Given the description of an element on the screen output the (x, y) to click on. 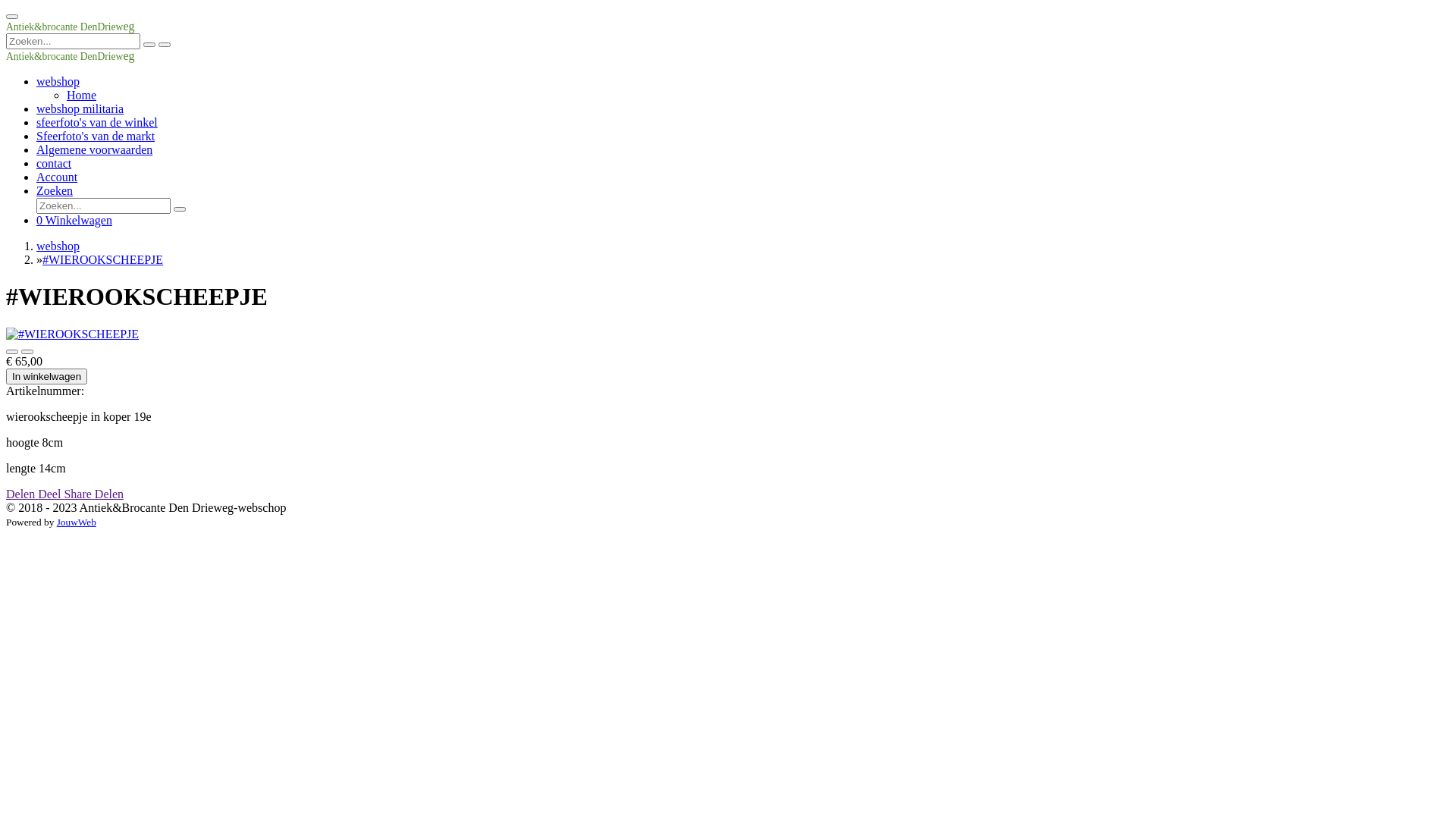
Zoeken Element type: text (54, 190)
sfeerfoto's van de winkel Element type: text (96, 122)
0 Winkelwagen Element type: text (74, 219)
Share Element type: text (78, 493)
Account Element type: text (56, 176)
Algemene voorwaarden Element type: text (94, 149)
#WIEROOKSCHEEPJE Element type: text (102, 259)
JouwWeb Element type: text (76, 521)
Antiek&brocante DenDrieweg Element type: text (70, 25)
Deel Element type: text (50, 493)
Delen Element type: text (108, 493)
webshop Element type: text (57, 245)
In winkelwagen Element type: text (46, 376)
Antiek&brocante DenDrieweg Element type: text (70, 55)
Sfeerfoto's van de markt Element type: text (95, 135)
Home Element type: text (81, 94)
webshop Element type: text (57, 81)
Delen Element type: text (21, 493)
webshop militaria Element type: text (79, 108)
contact Element type: text (53, 162)
